Given the description of an element on the screen output the (x, y) to click on. 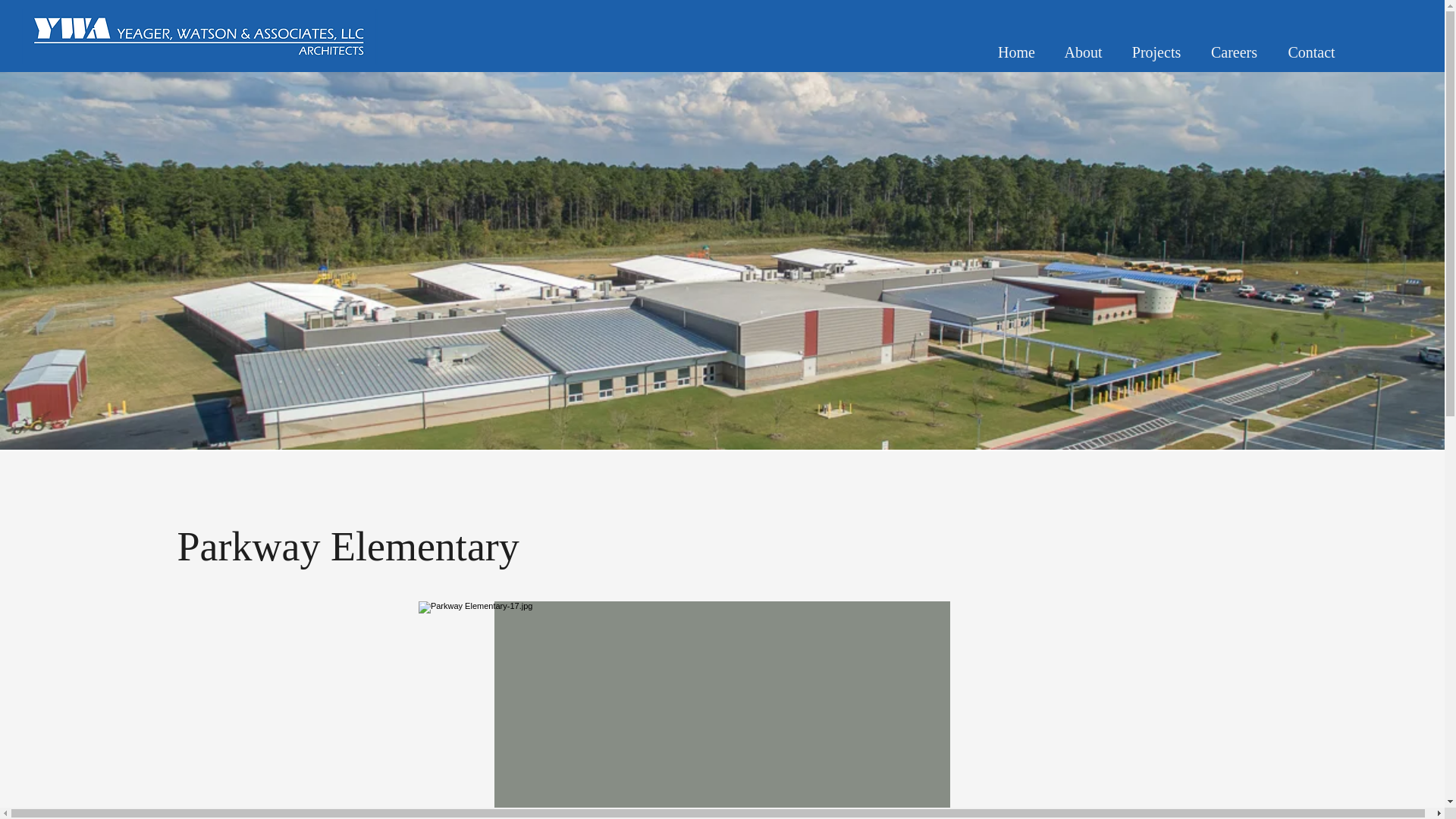
Projects (1155, 50)
Contact (1311, 50)
Home (1016, 50)
Careers (1233, 50)
About (1082, 50)
